Given the description of an element on the screen output the (x, y) to click on. 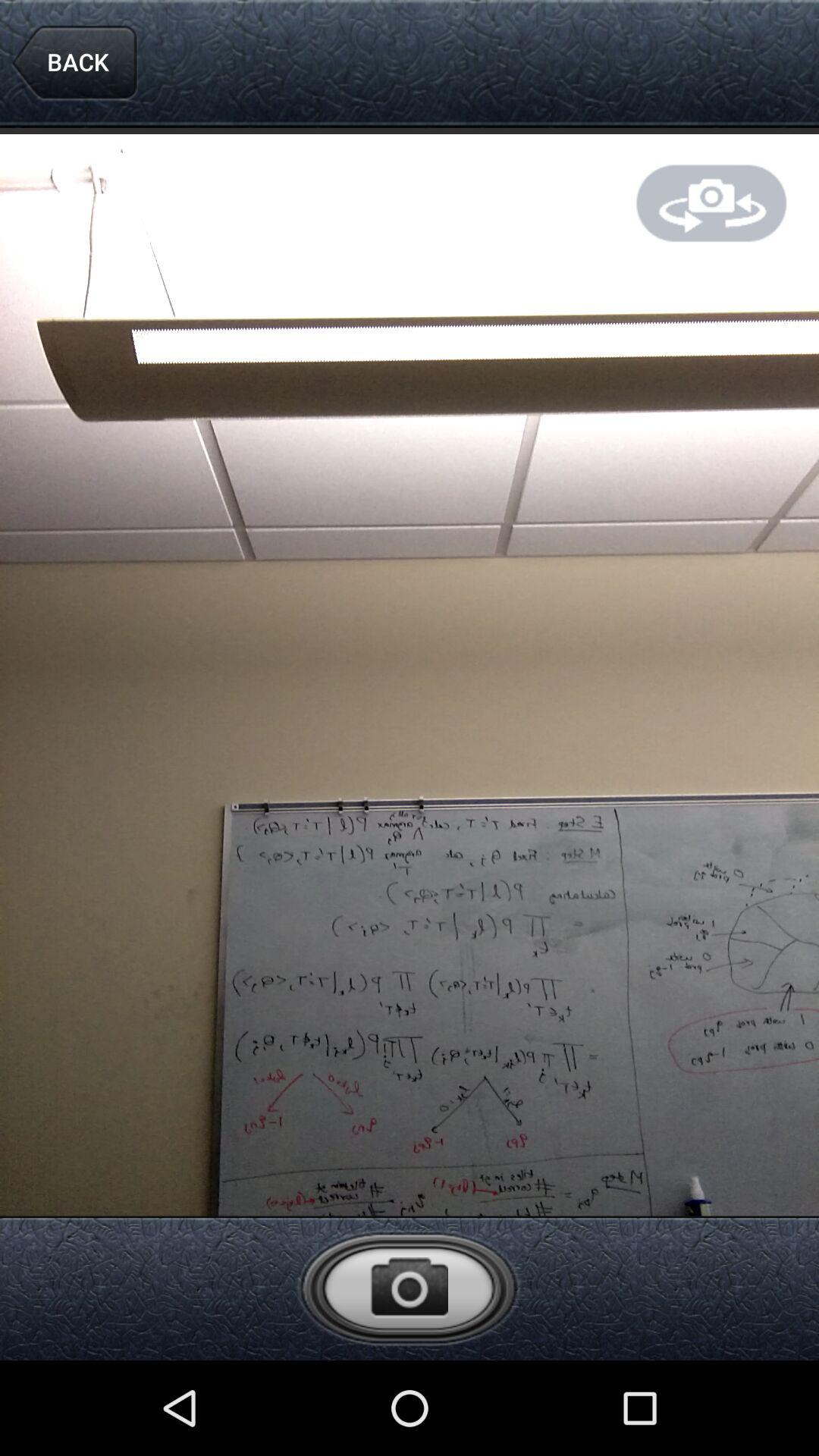
changing camera way (711, 202)
